Given the description of an element on the screen output the (x, y) to click on. 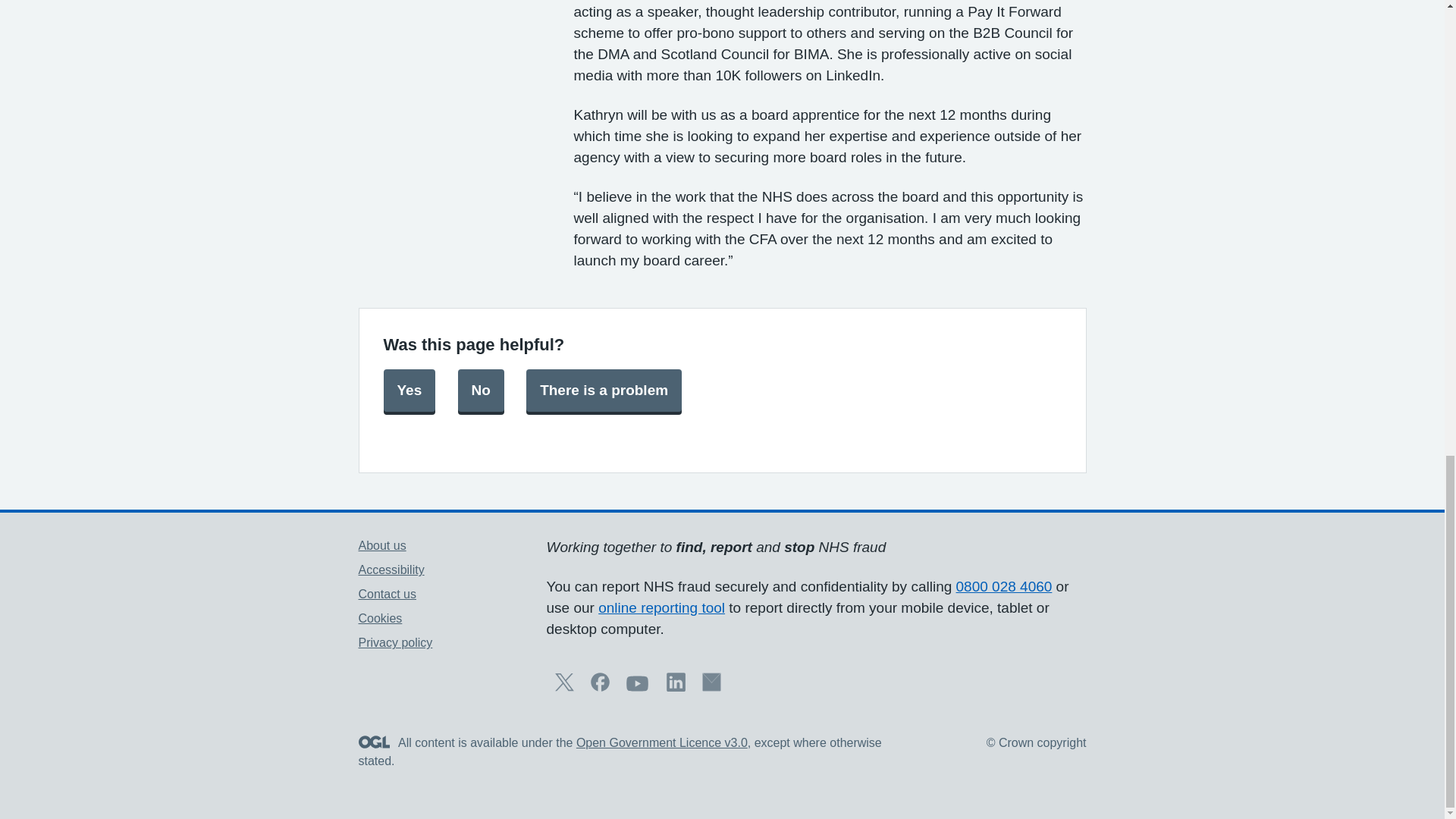
Link to NHSCFA Youtube page - Opens in new tab (637, 690)
Link to email NHSCFA general enquiries - Opens in new tab (710, 686)
Link to NHSCFA Twitter page (563, 686)
Initiate native telephone dialer to call 08000284060 (1004, 586)
Link to NHSCFA Facebook page - Opens in new tab (600, 686)
No - this page is NOT helpful (480, 390)
Link to NHSCFA LinkedIn page - Opens in new tab (675, 686)
Yes - this page is helpful (409, 390)
